Given the description of an element on the screen output the (x, y) to click on. 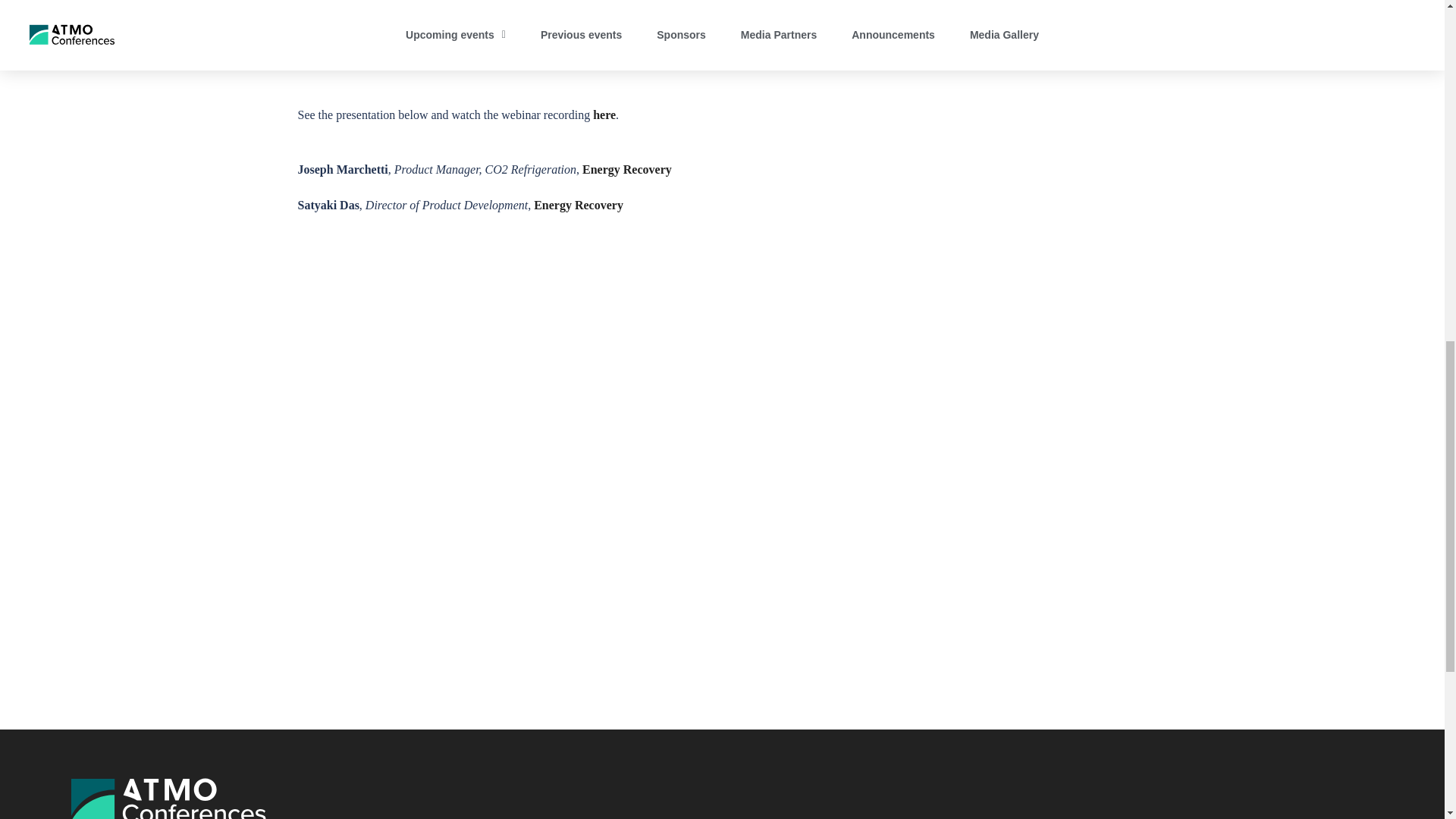
Energy Recovery  (580, 205)
here (603, 114)
Energy Recovery  (628, 169)
